Given the description of an element on the screen output the (x, y) to click on. 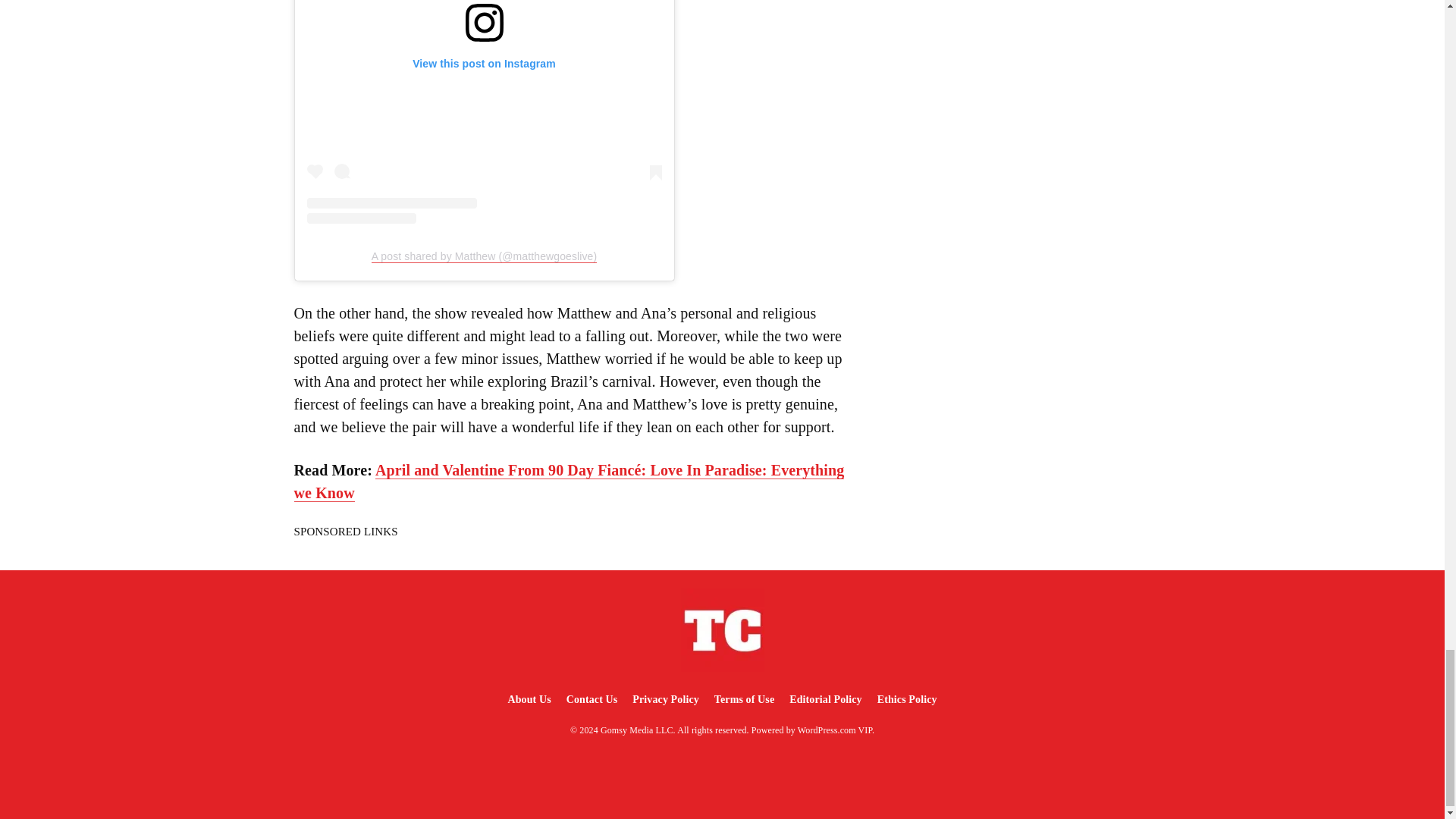
Privacy Policy (665, 699)
Contact Us (592, 699)
WordPress.com VIP (834, 729)
View this post on Instagram (483, 111)
Ethics Policy (906, 699)
About Us (528, 699)
Editorial Policy (825, 699)
Terms of Use (743, 699)
